Given the description of an element on the screen output the (x, y) to click on. 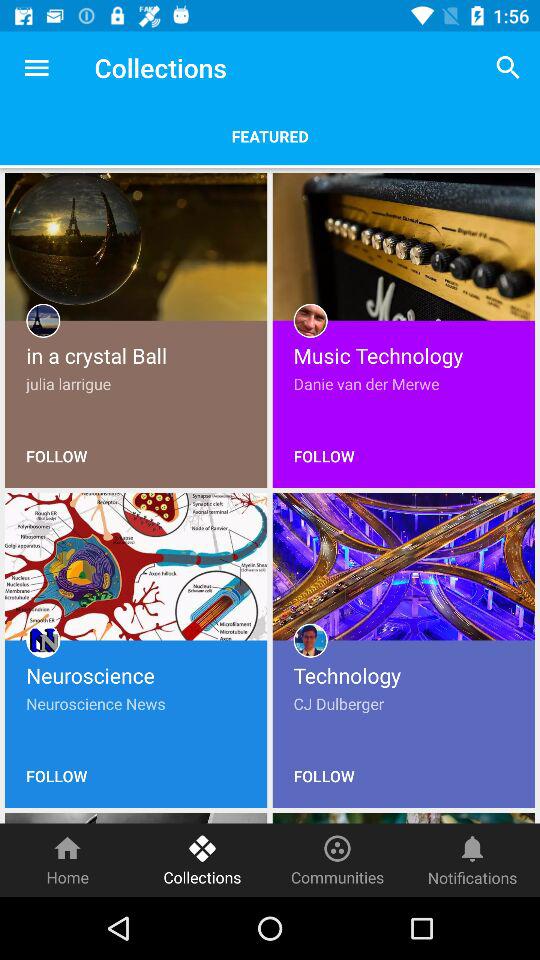
tap home item (67, 859)
